Given the description of an element on the screen output the (x, y) to click on. 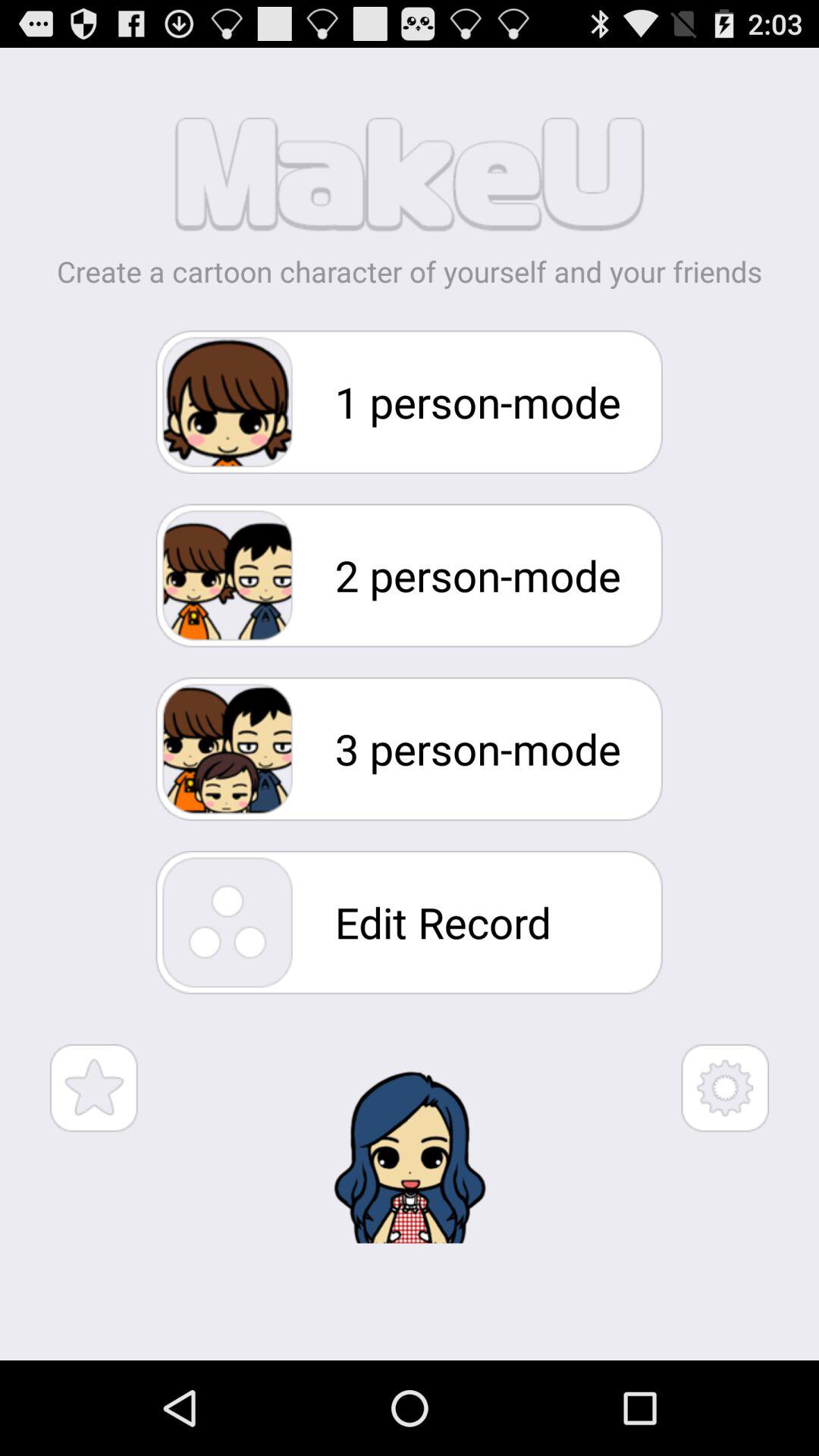
open settings (724, 1087)
